Given the description of an element on the screen output the (x, y) to click on. 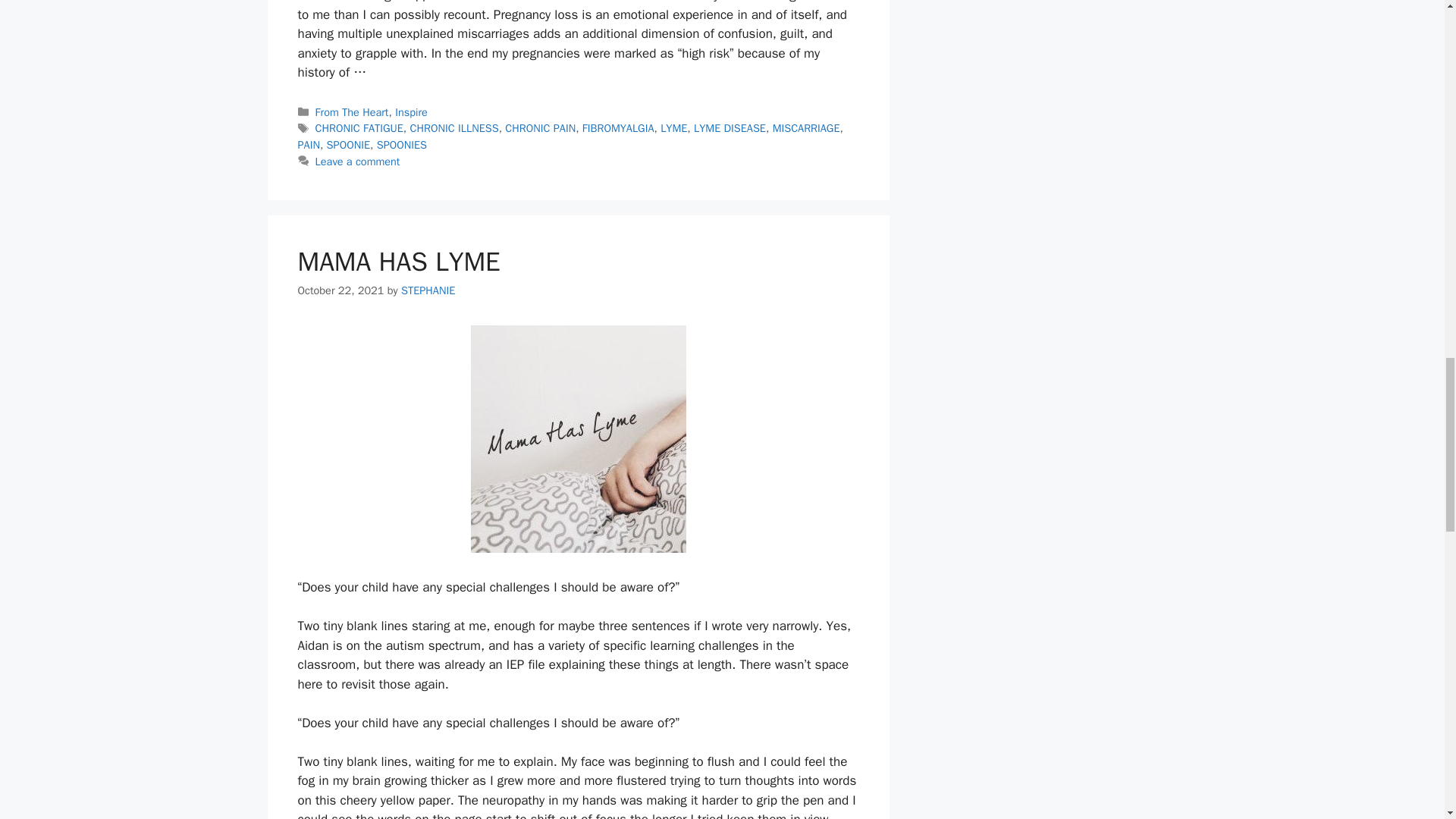
View all posts by STEPHANIE (427, 290)
CHRONIC PAIN (540, 128)
SPOONIES (401, 144)
Inspire (411, 111)
PAIN (307, 144)
CHRONIC FATIGUE (359, 128)
STEPHANIE (427, 290)
FIBROMYALGIA (617, 128)
Leave a comment (357, 161)
CHRONIC ILLNESS (454, 128)
